Given the description of an element on the screen output the (x, y) to click on. 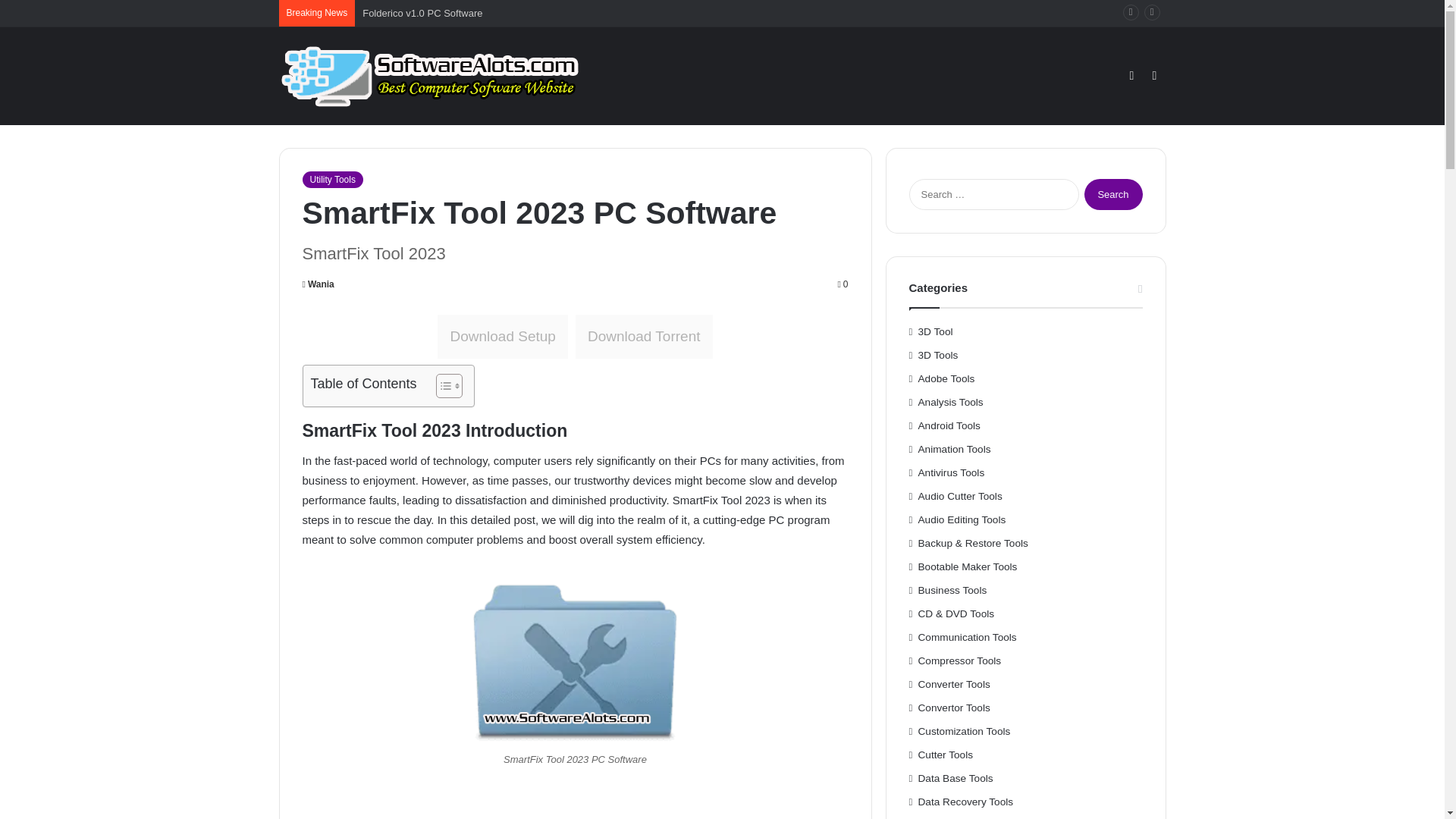
Download Torrent (644, 336)
Download SetupDownload Torrent (574, 336)
Folderico v1.0 PC Software (421, 12)
Search (1113, 194)
Download Setup (502, 336)
Software Alots - Software Shareware (430, 75)
Search (1113, 194)
Utility Tools (331, 179)
Wania (317, 284)
SmartFix Tool 2023 PC Software (574, 658)
Wania (317, 284)
